Given the description of an element on the screen output the (x, y) to click on. 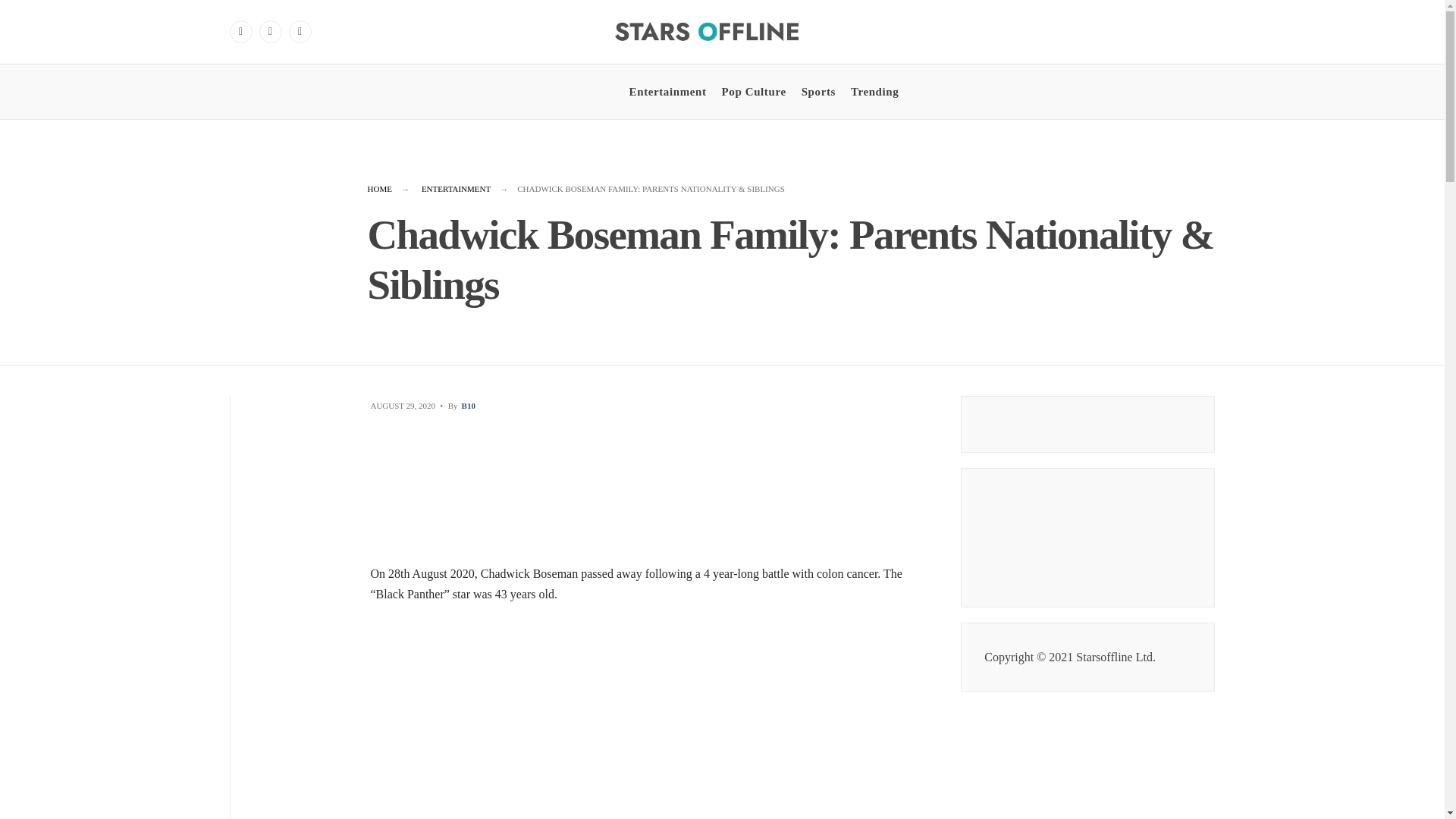
Entertainment (667, 91)
B10 (468, 405)
ENTERTAINMENT (456, 188)
Posts by B10 (468, 405)
Advertisement (650, 718)
Sports (818, 91)
Trending (874, 91)
HOME (378, 188)
Pop Culture (754, 91)
Pinterest (299, 31)
